Given the description of an element on the screen output the (x, y) to click on. 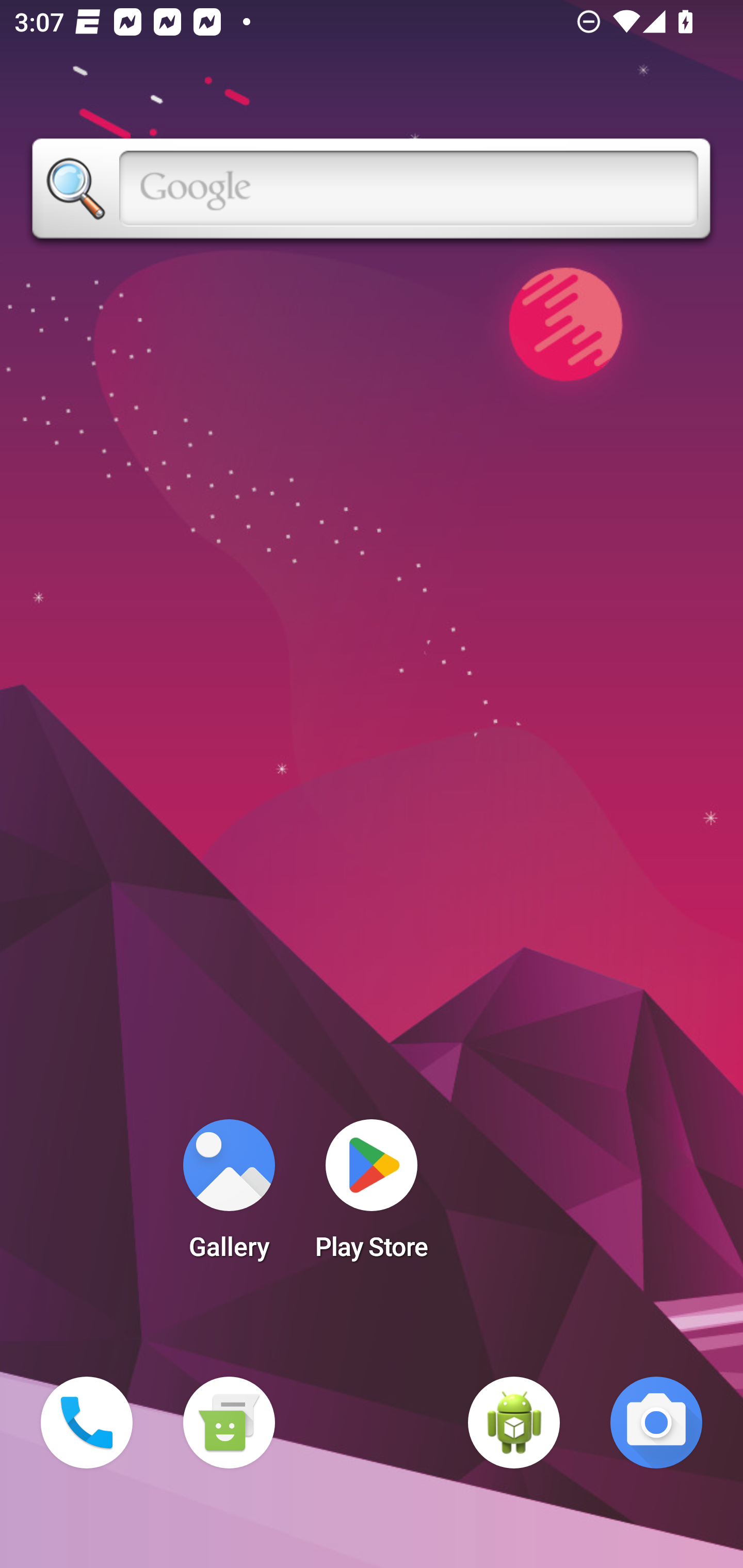
Gallery (228, 1195)
Play Store (371, 1195)
Phone (86, 1422)
Messaging (228, 1422)
WebView Browser Tester (513, 1422)
Camera (656, 1422)
